Given the description of an element on the screen output the (x, y) to click on. 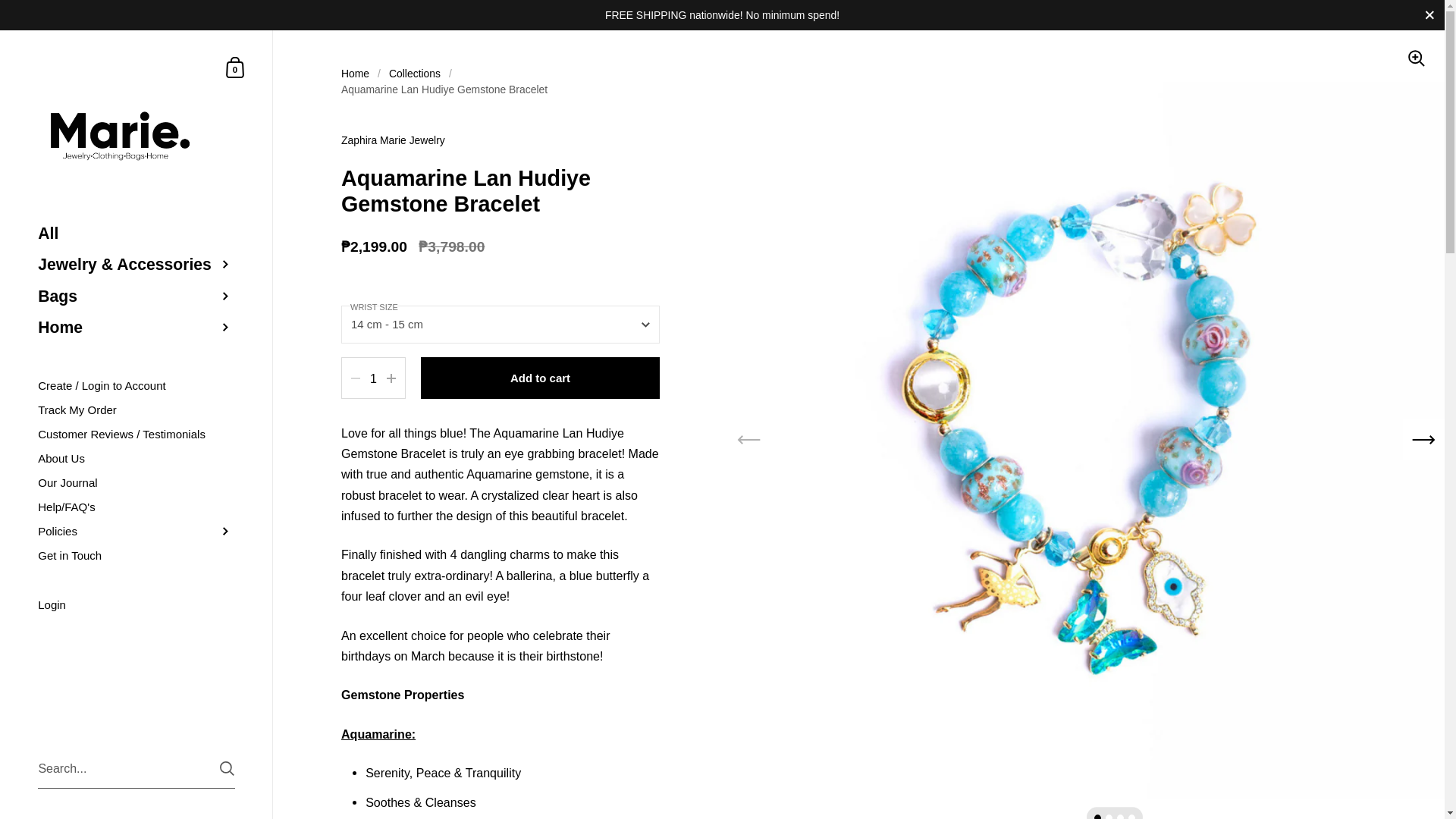
Track My Order (136, 410)
Shopping Cart (235, 66)
All (136, 232)
Bags (136, 296)
1 (373, 378)
Policies (235, 66)
About Us (136, 531)
Our Journal (136, 458)
